Given the description of an element on the screen output the (x, y) to click on. 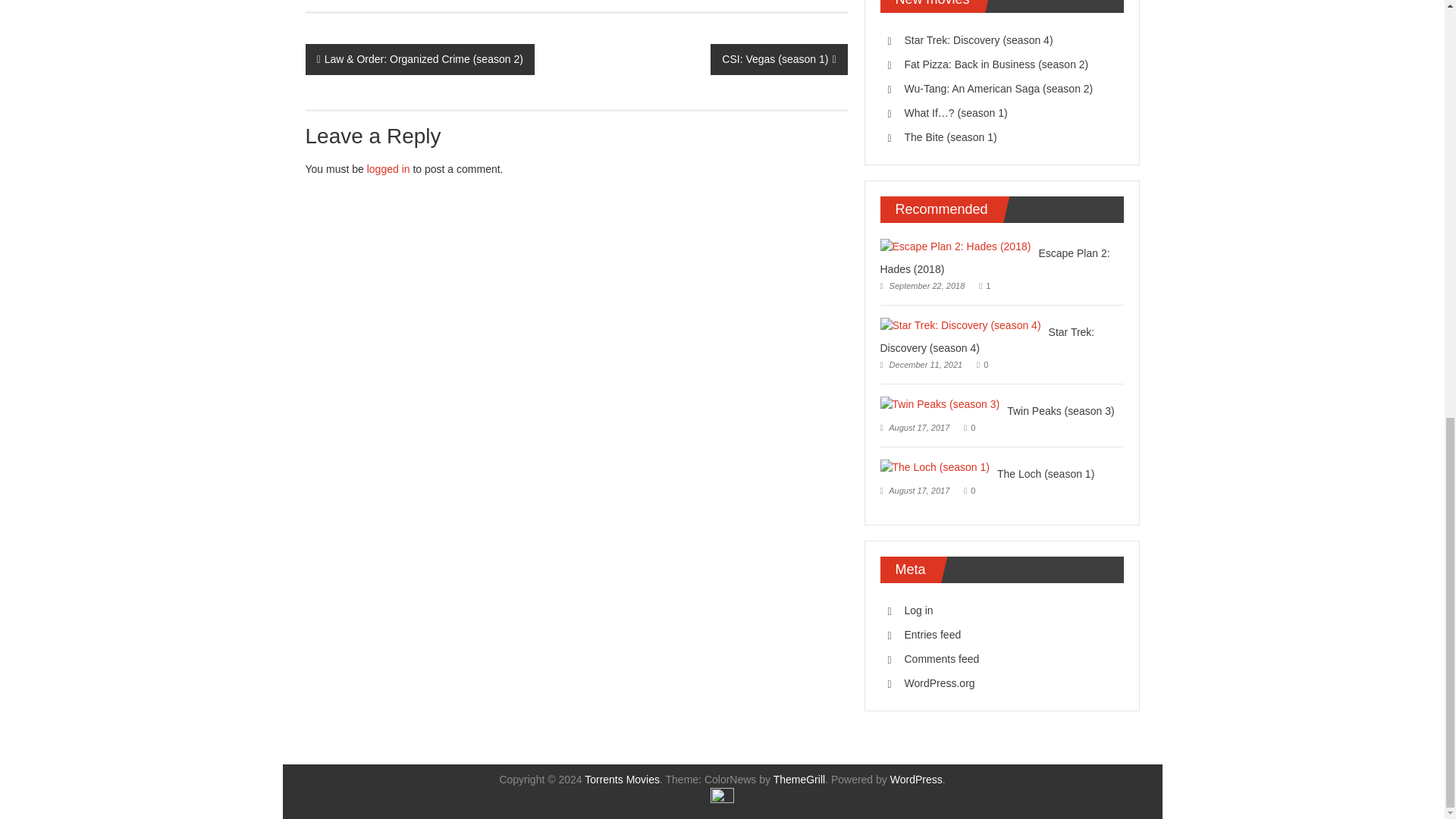
1:34 pm (921, 285)
4:58 am (920, 364)
logged in (388, 168)
